Given the description of an element on the screen output the (x, y) to click on. 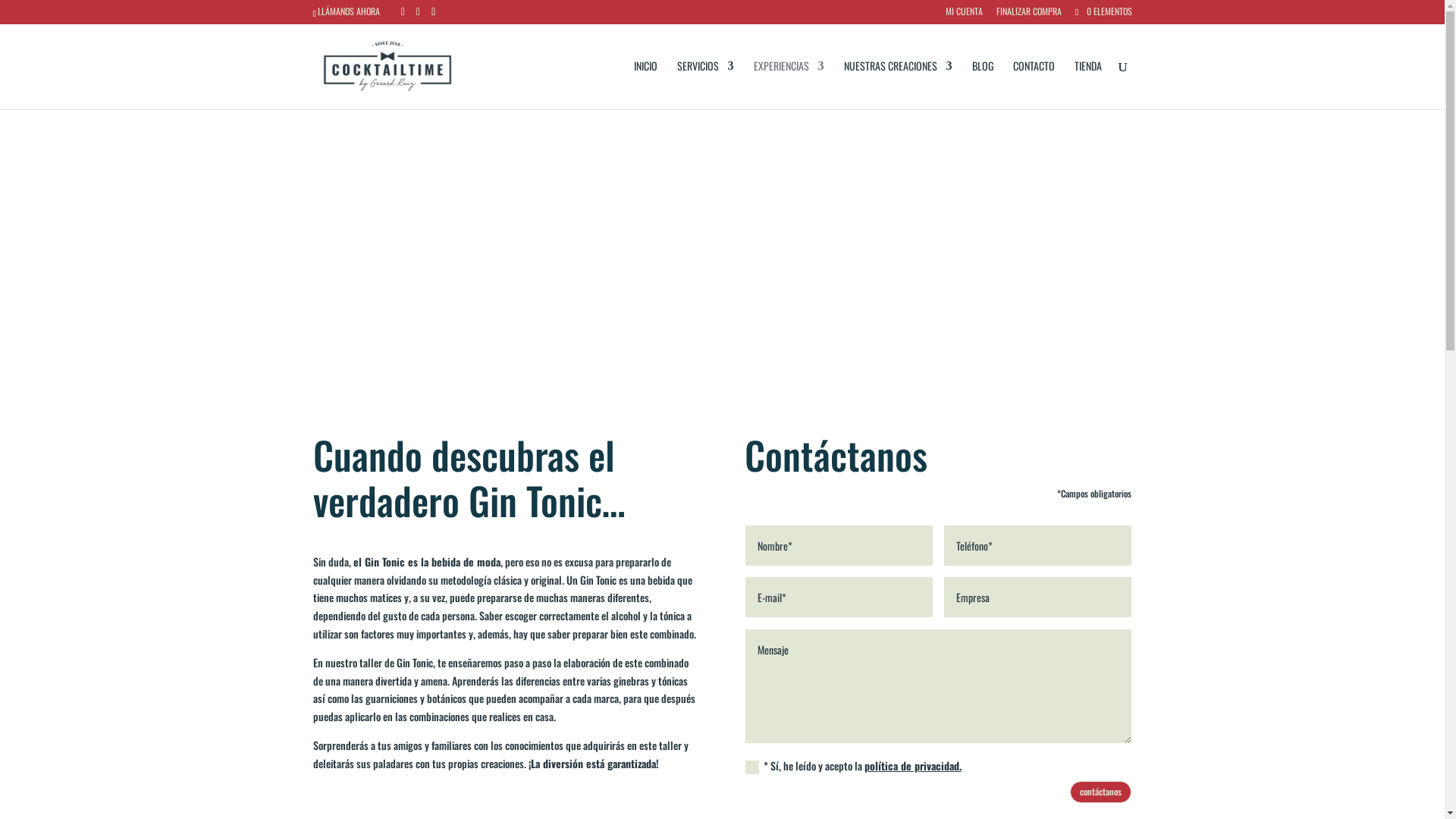
SERVICIOS Element type: text (704, 84)
EXPERIENCIAS Element type: text (788, 84)
FINALIZAR COMPRA Element type: text (1028, 14)
CONTACTO Element type: text (1033, 84)
NUESTRAS CREACIONES Element type: text (897, 84)
TIENDA Element type: text (1087, 84)
MI CUENTA Element type: text (963, 14)
0 ELEMENTOS Element type: text (1102, 10)
BLOG Element type: text (982, 84)
INICIO Element type: text (645, 84)
